Given the description of an element on the screen output the (x, y) to click on. 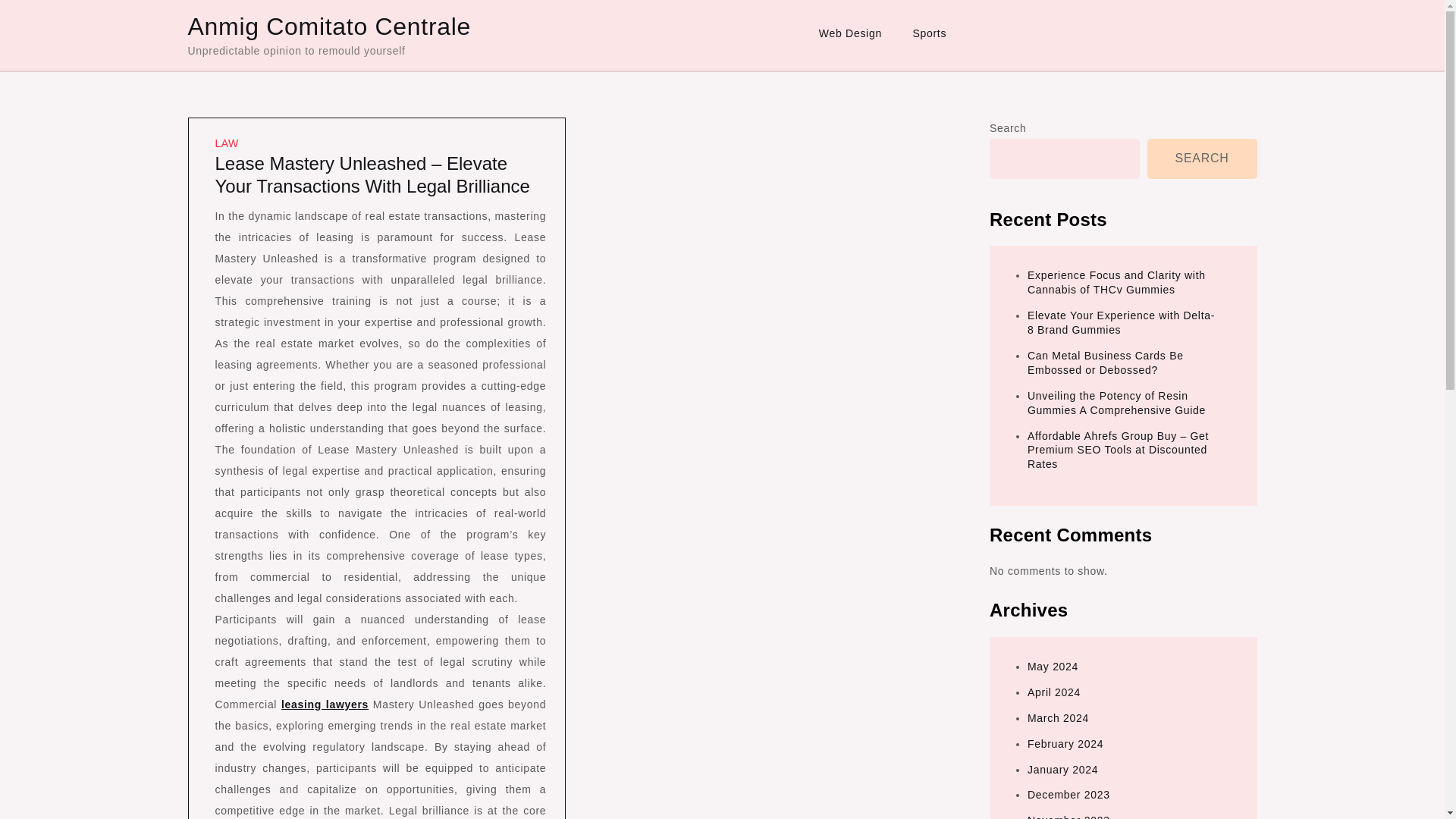
November 2023 (1068, 816)
Unveiling the Potency of Resin Gummies A Comprehensive Guide (1116, 402)
April 2024 (1053, 692)
LAW (226, 143)
Experience Focus and Clarity with Cannabis of THCv Gummies (1116, 282)
SEARCH (1202, 158)
March 2024 (1058, 717)
Anmig Comitato Centrale (329, 26)
Sports (928, 33)
February 2024 (1065, 743)
January 2024 (1062, 769)
Can Metal Business Cards Be Embossed or Debossed? (1105, 362)
Web Design (850, 33)
May 2024 (1052, 666)
leasing lawyers (324, 704)
